Given the description of an element on the screen output the (x, y) to click on. 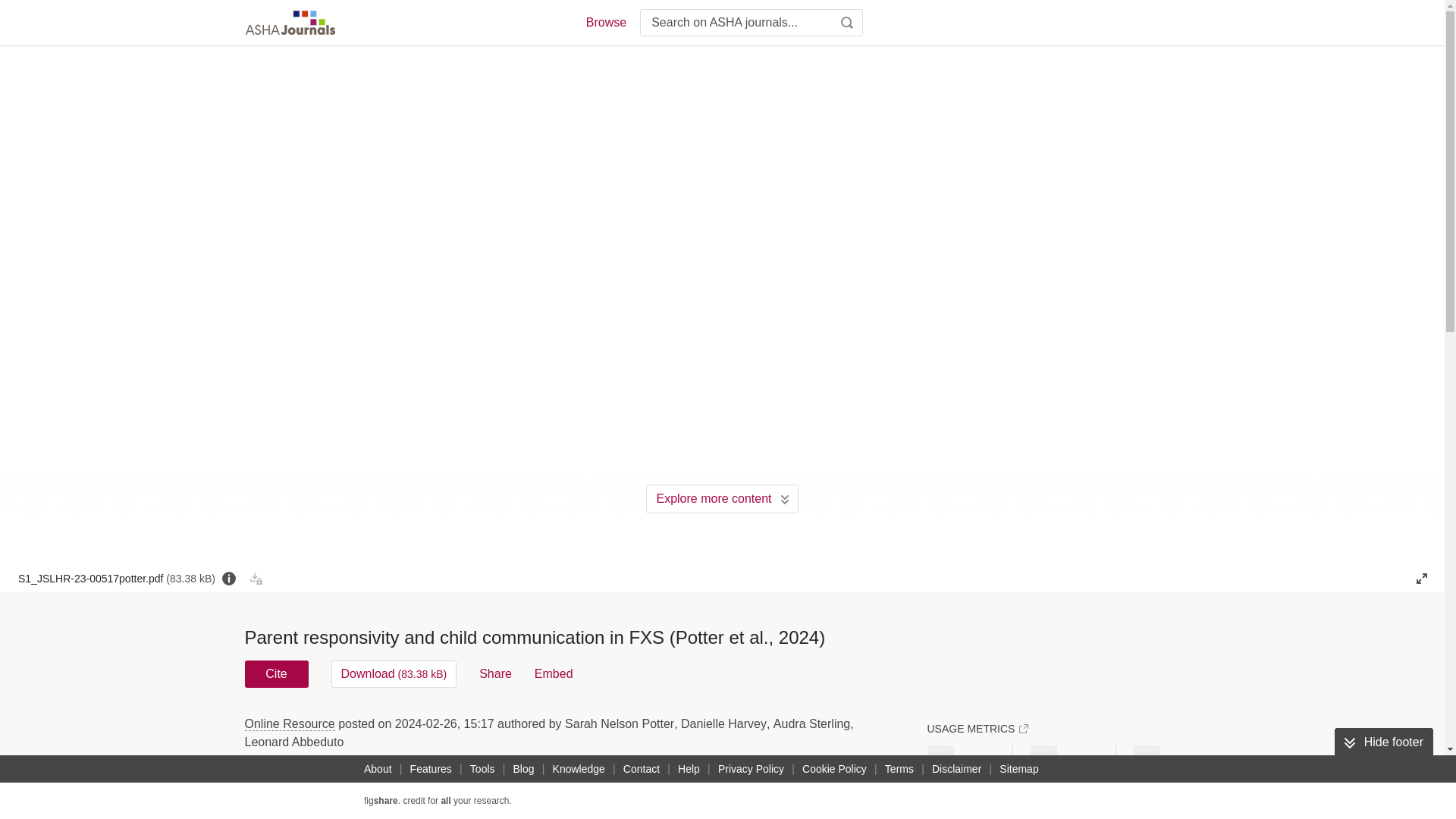
Embed (553, 673)
Browse (605, 22)
USAGE METRICS (976, 728)
Share (495, 673)
Explore more content (721, 498)
Cite (275, 673)
